Given the description of an element on the screen output the (x, y) to click on. 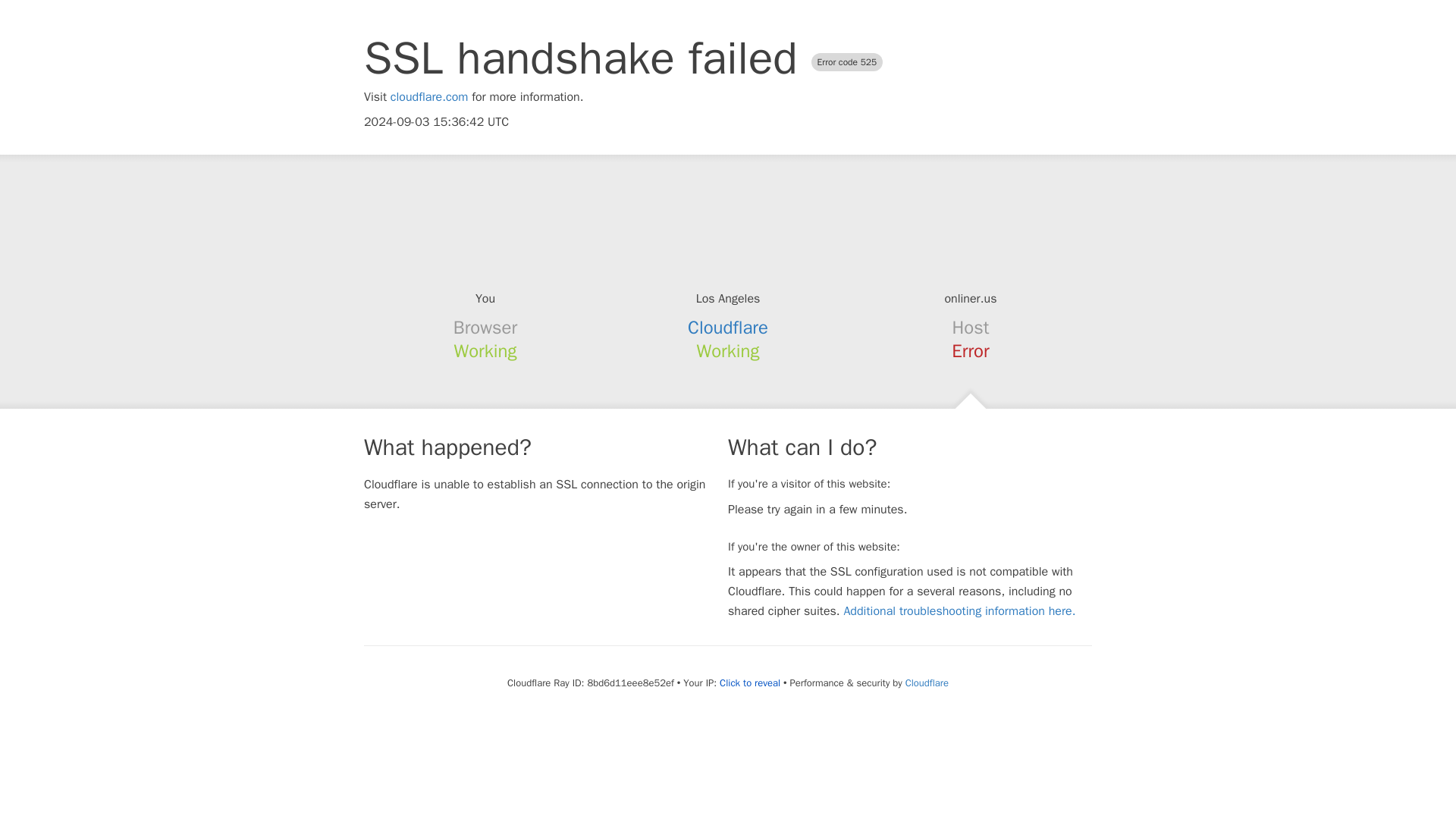
cloudflare.com (429, 96)
Click to reveal (749, 683)
Additional troubleshooting information here. (959, 611)
Cloudflare (927, 682)
Cloudflare (727, 327)
